Given the description of an element on the screen output the (x, y) to click on. 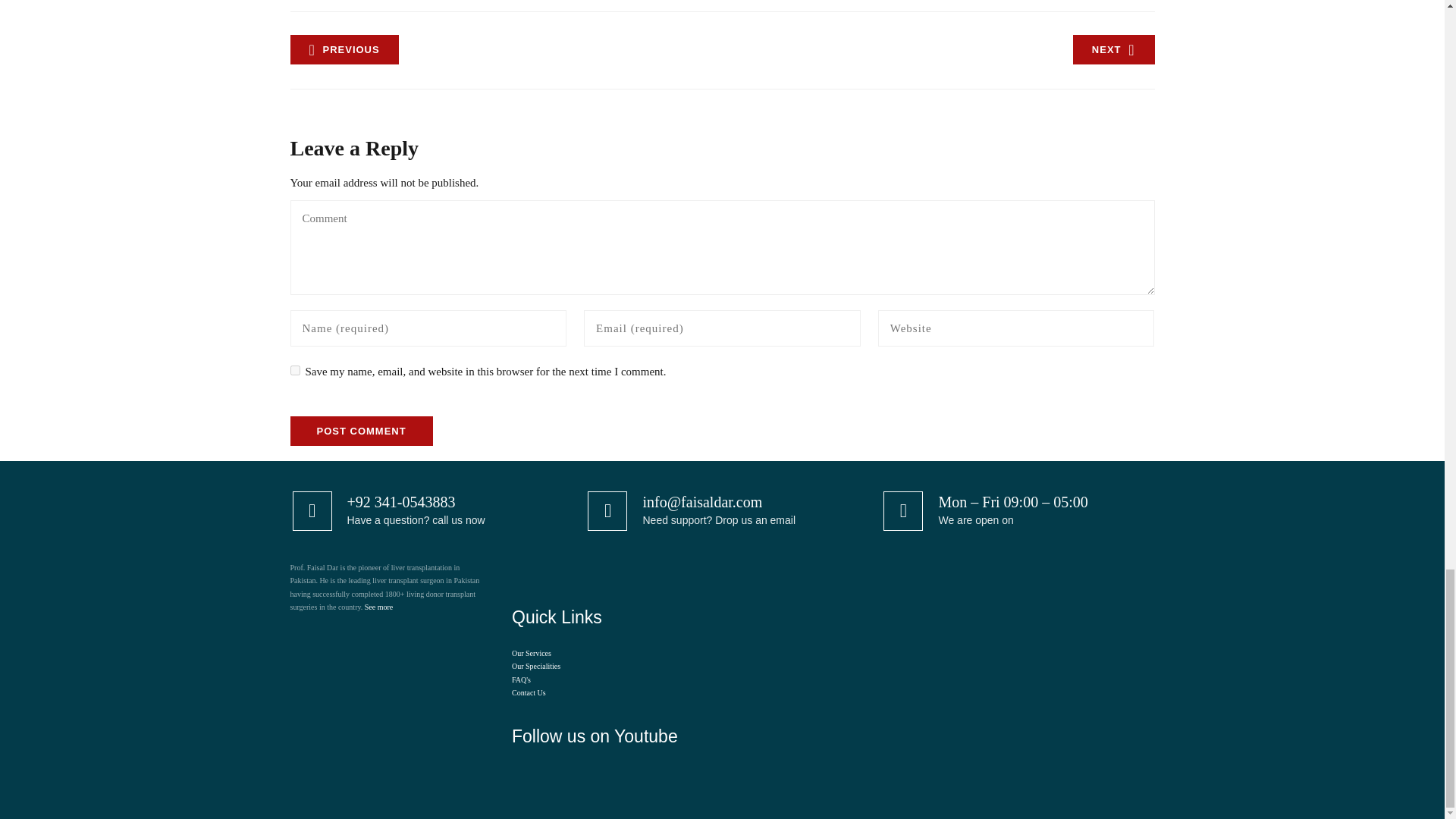
Our Services (531, 653)
NEXT (1113, 49)
Our Specialities (536, 665)
Post Comment (360, 430)
yes (294, 370)
Post Comment (360, 430)
FAQ's (521, 679)
Benefits of Exercise (1113, 49)
See more (379, 606)
PREVIOUS (343, 49)
